Given the description of an element on the screen output the (x, y) to click on. 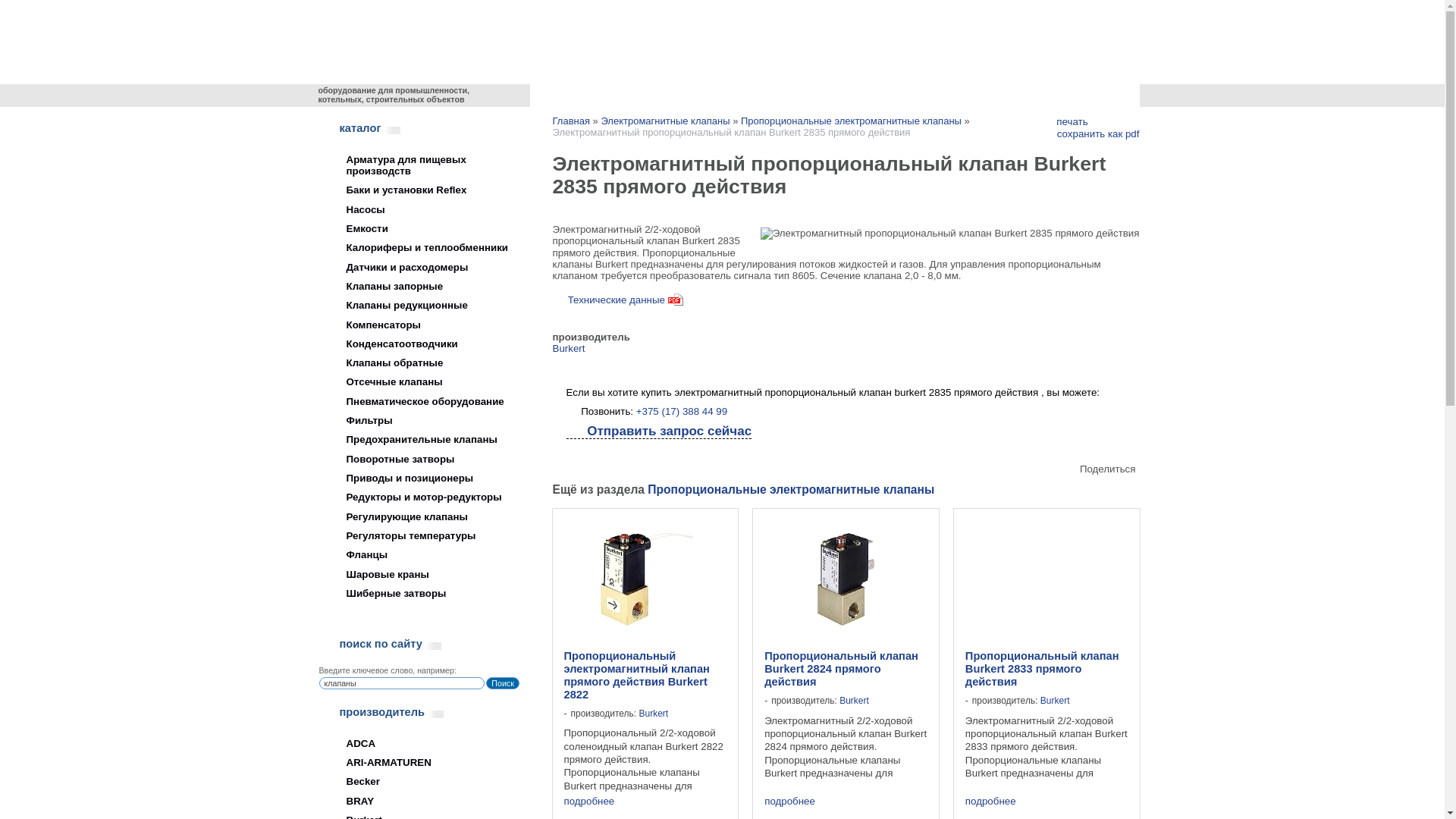
+375 (17) 388 44 99 Element type: text (681, 411)
Becker Element type: text (416, 781)
+375 (17) 388 44 99 Element type: text (609, 34)
Burkert Element type: text (653, 713)
Burkert Element type: text (1055, 700)
Burkert Element type: text (854, 700)
BRAY Element type: text (416, 800)
Burkert Element type: text (568, 348)
ADCA Element type: text (416, 743)
ARI-ARMATUREN Element type: text (416, 762)
